Given the description of an element on the screen output the (x, y) to click on. 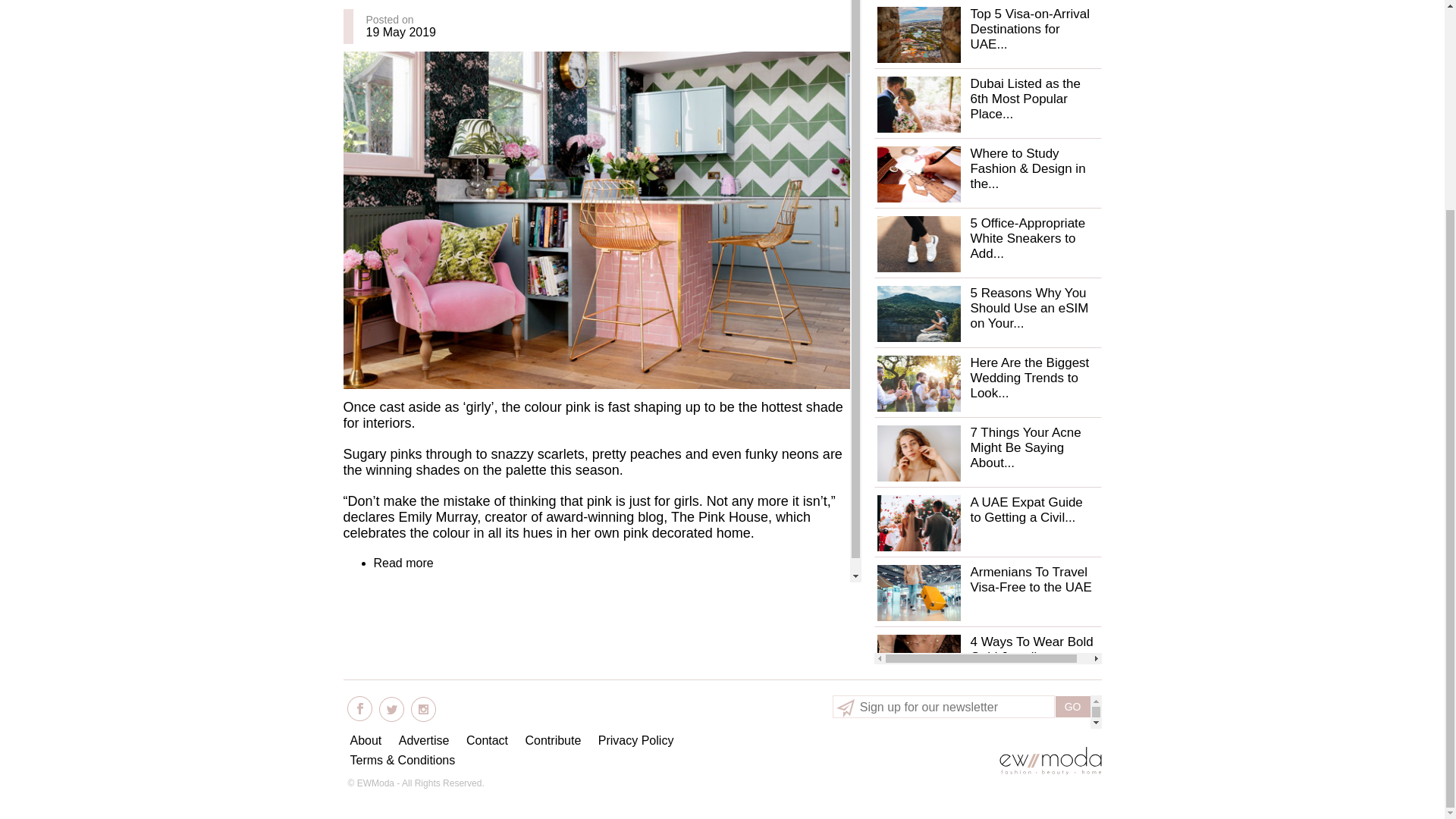
Where to study fashion and design in the UAE (918, 174)
What does your acne say about your health? (918, 453)
Here Are the Biggest Wedding Trends to Look... (1029, 377)
Dubai Listed as the 6th Most Popular Place... (1024, 98)
Why you should always travel with an e-sim (918, 313)
Top 7 UAE Wedding Trends in 2024 (918, 383)
Best white office sneakers for women in the UAE (918, 243)
How can expats get married in Abu Dhabi? (918, 523)
Play With the Power of Pink for Punchy Settings at Home (402, 562)
5 Office-Appropriate White Sneakers to Add... (1026, 238)
Top 5 Visa-on-Arrival Destinations for UAE... (1029, 28)
